Given the description of an element on the screen output the (x, y) to click on. 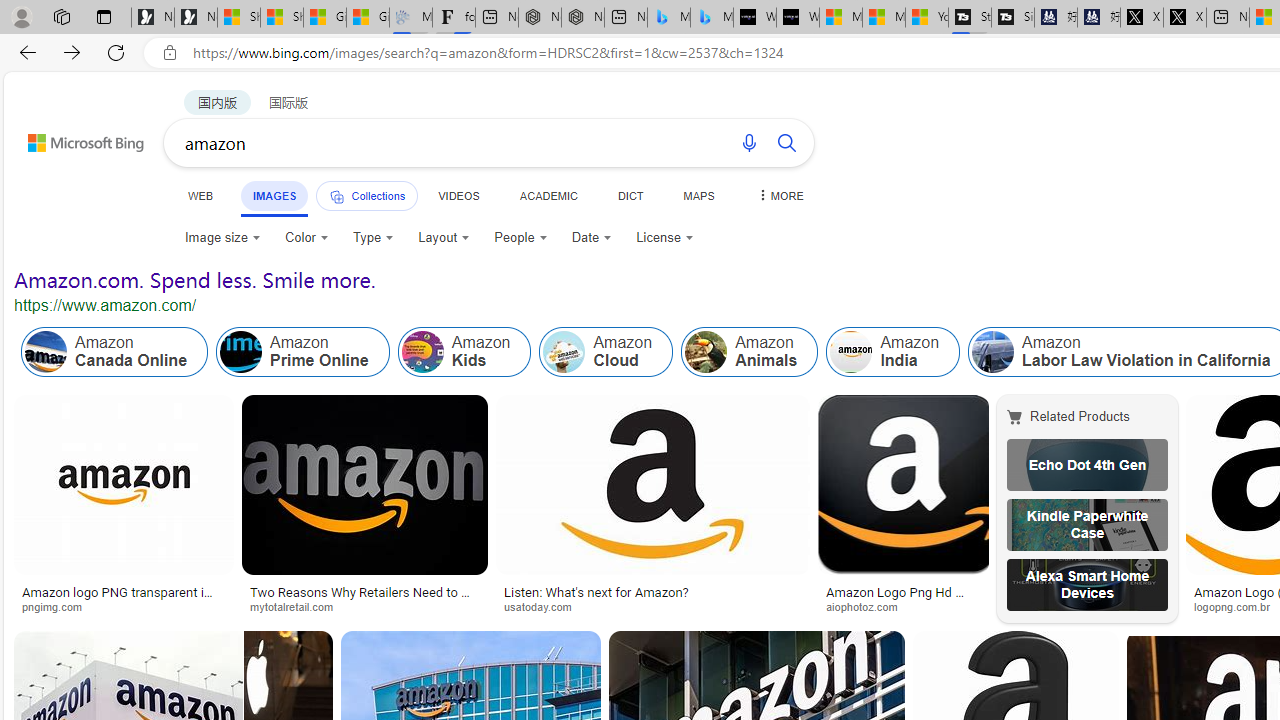
Amazon Cloud (606, 351)
Amazon Canada Online (114, 351)
Amazon Labor Law Violation in California (993, 351)
Echo Dot 4th Gen (1087, 465)
Listen: What's next for Amazon?usatoday.comSave (656, 508)
MAPS (698, 195)
Listen: What's next for Amazon? (596, 592)
Image size (221, 237)
Alexa Smart Home Devices (1087, 584)
Type (373, 237)
MAPS (698, 195)
